Given the description of an element on the screen output the (x, y) to click on. 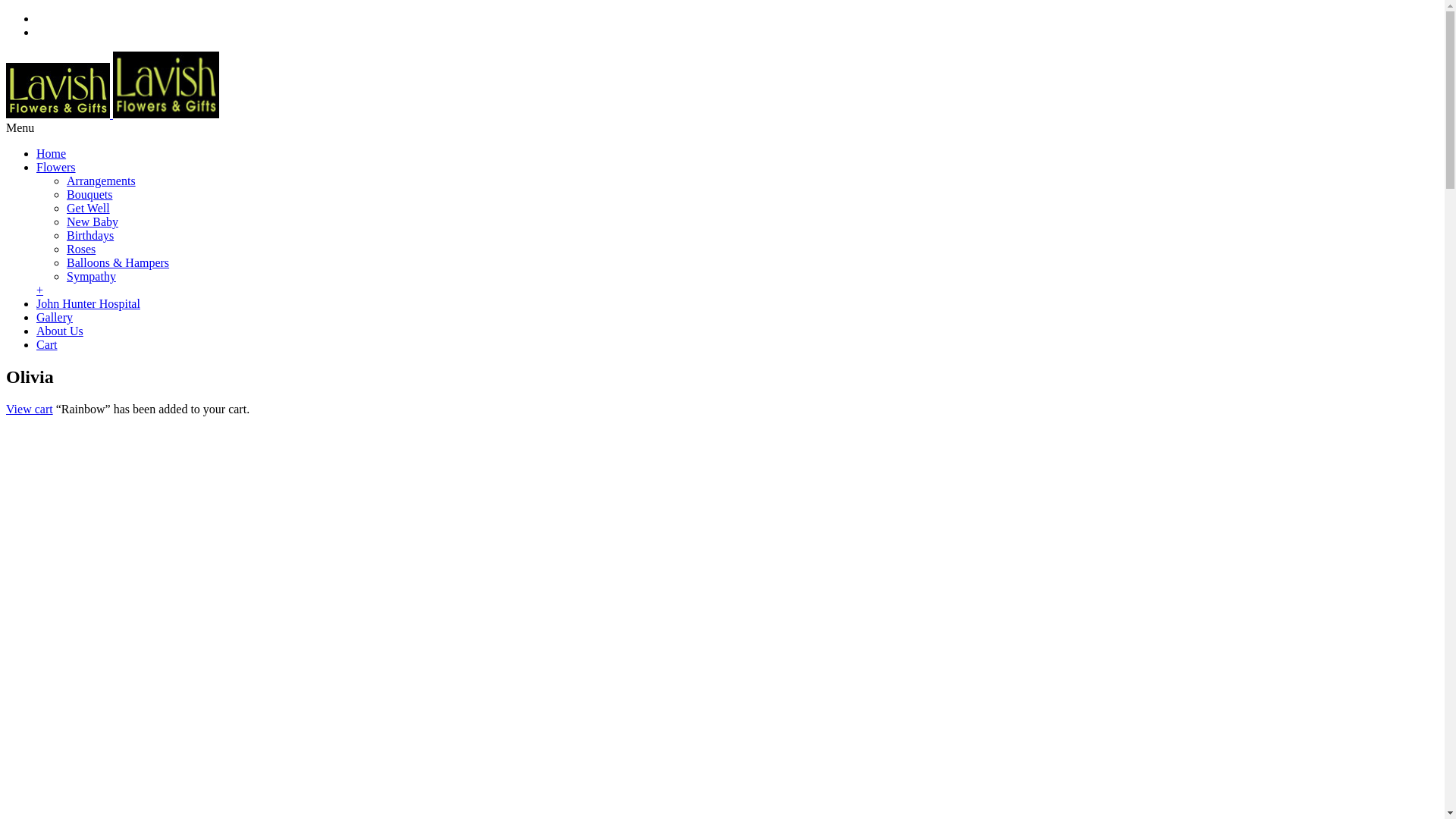
Get Well Element type: text (87, 207)
Birthdays Element type: text (89, 235)
Roses Element type: text (80, 248)
View cart Element type: text (29, 408)
Lavish Flowers Online Element type: hover (165, 84)
Lavish Flowers Online Element type: hover (57, 90)
Flowers Element type: text (55, 166)
Home Element type: text (50, 153)
Arrangements Element type: text (100, 180)
Sympathy Element type: text (91, 275)
Bouquets Element type: text (89, 194)
About Us Element type: text (59, 330)
Gallery Element type: text (54, 316)
Cart Element type: text (46, 344)
John Hunter Hospital Element type: text (88, 303)
New Baby Element type: text (92, 221)
Lavish Flowers Online Element type: hover (112, 113)
Balloons & Hampers Element type: text (117, 262)
+ Element type: text (39, 289)
